Given the description of an element on the screen output the (x, y) to click on. 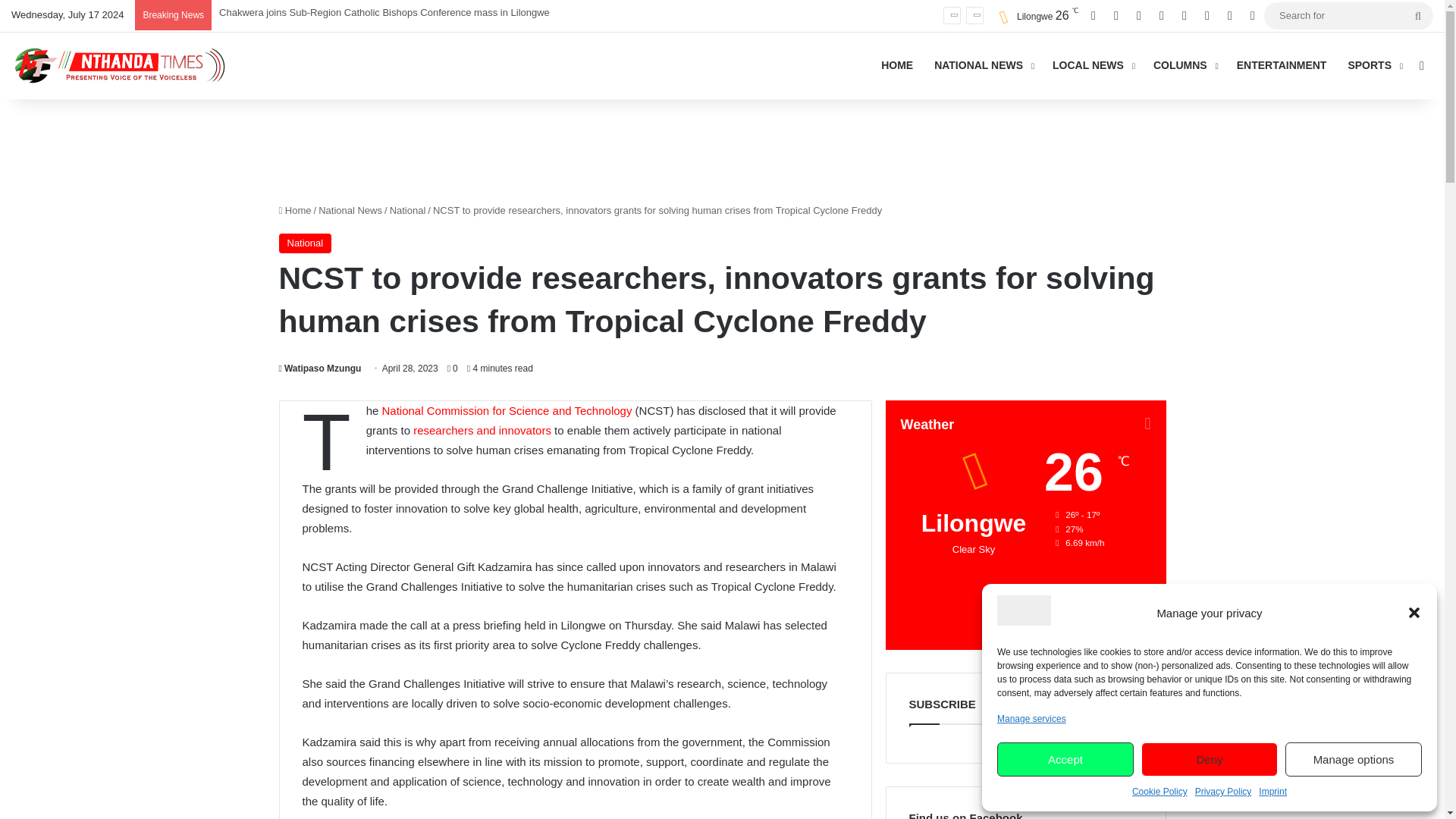
Privacy Policy (1223, 791)
Sidebar (1252, 15)
RSS (1229, 15)
X (1115, 15)
Instagram (1184, 15)
Manage options (1353, 759)
Facebook (1093, 15)
LinkedIn (1138, 15)
Watipaso Mzungu (320, 368)
Cookie Policy (1160, 791)
Search for (1417, 15)
Manage services (1031, 719)
TikTok (1206, 15)
YouTube (1161, 15)
